Given the description of an element on the screen output the (x, y) to click on. 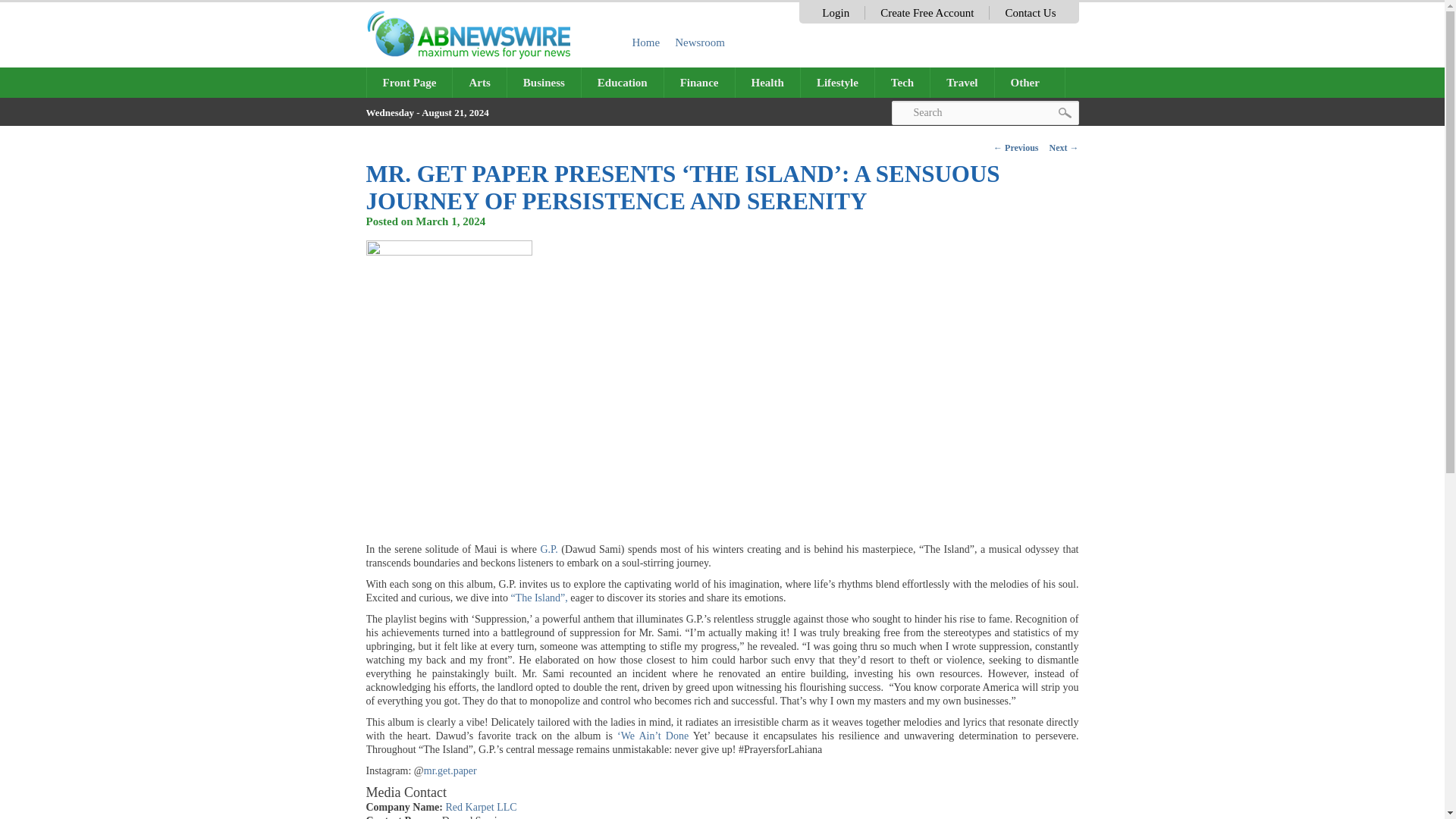
Home (646, 42)
Login (835, 12)
Tech (901, 82)
Contact Us (1030, 12)
Travel (961, 82)
Other (1029, 82)
Education (622, 82)
Business (544, 82)
Lifestyle (836, 82)
Finance (698, 82)
